Given the description of an element on the screen output the (x, y) to click on. 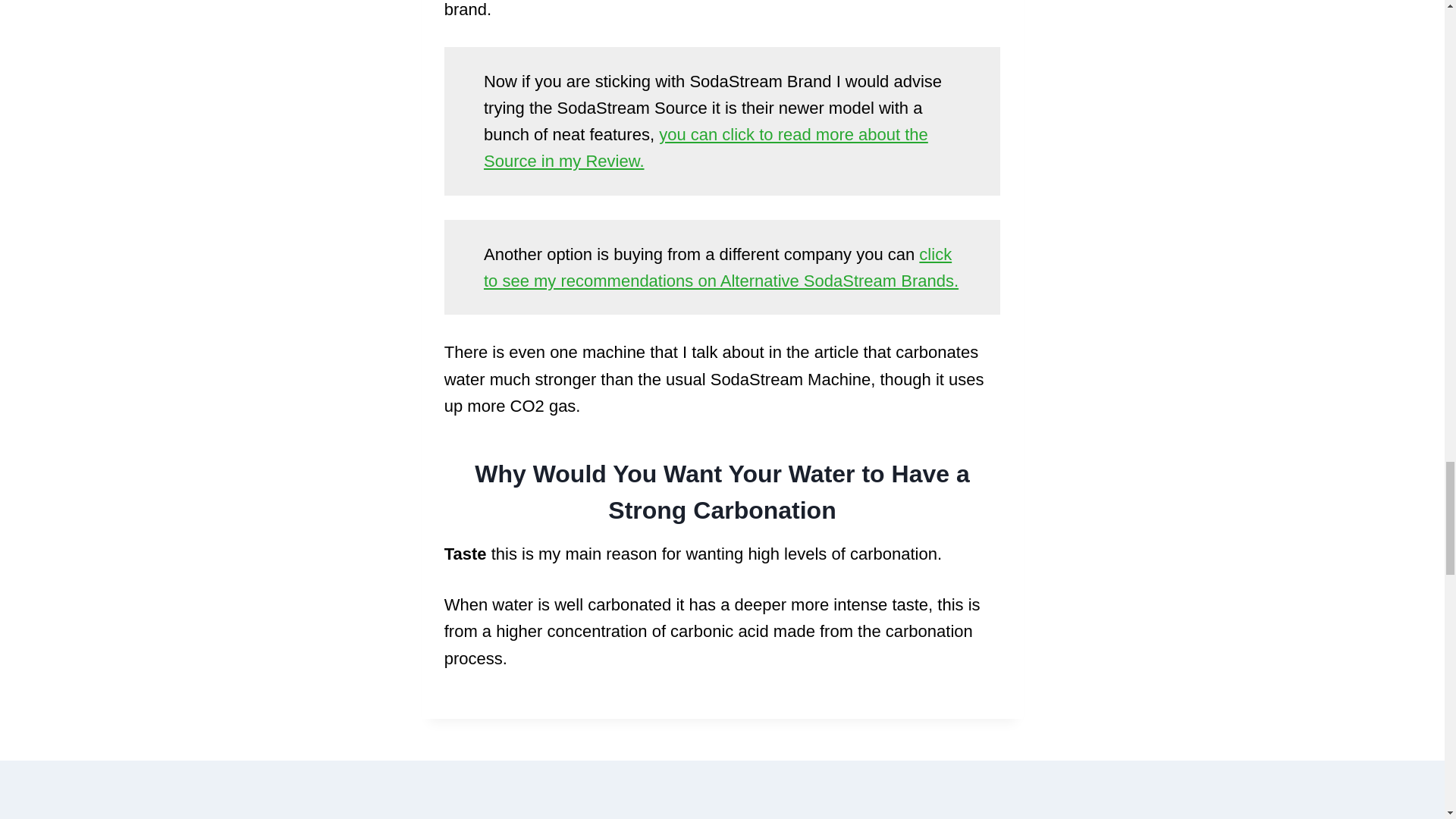
you can click to read more about the Source in my Review. (705, 147)
